Given the description of an element on the screen output the (x, y) to click on. 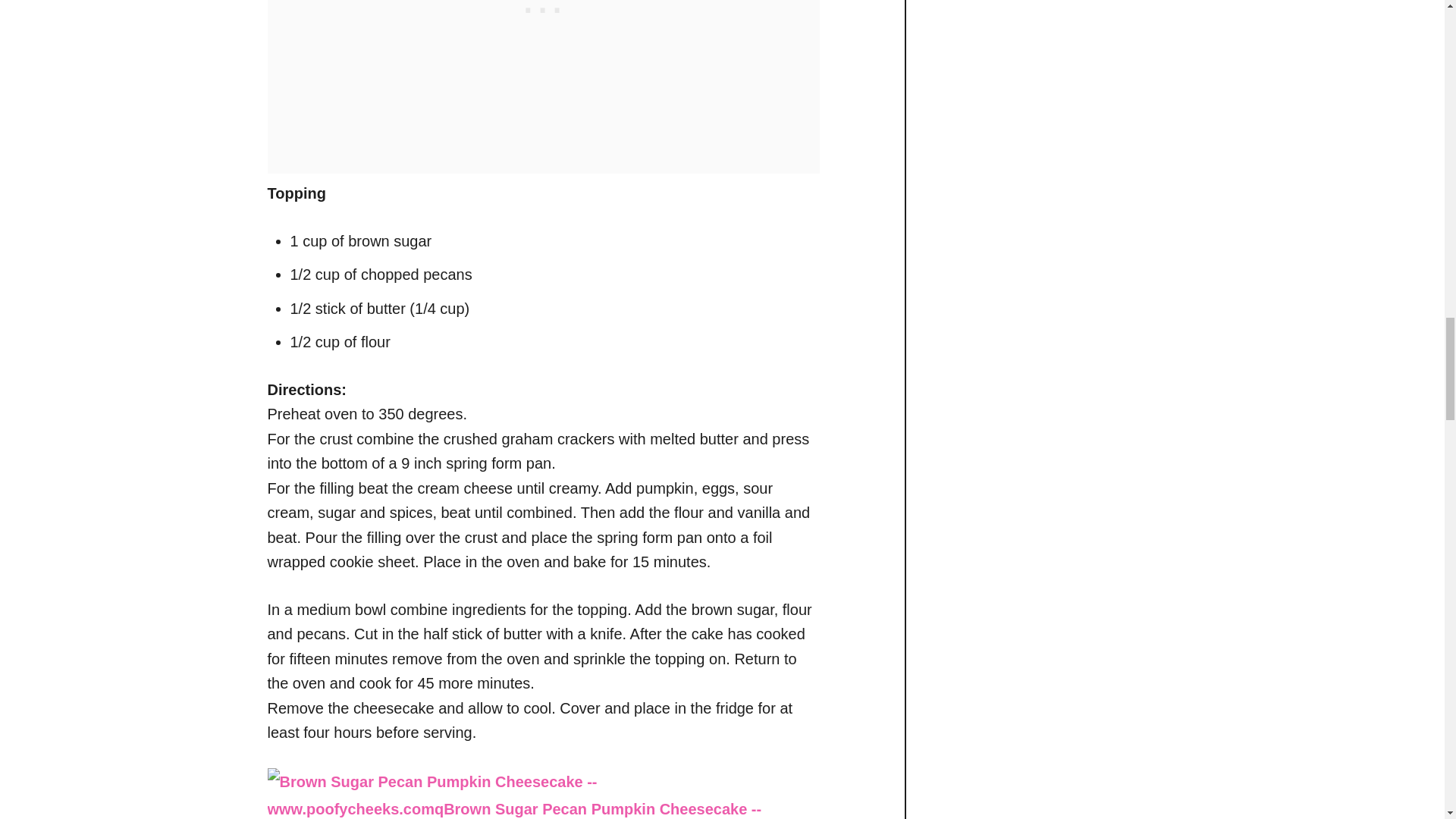
Brown Sugar Pecan Pumpkin Cheesecake -- www.poofycheeks.com (542, 793)
